Given the description of an element on the screen output the (x, y) to click on. 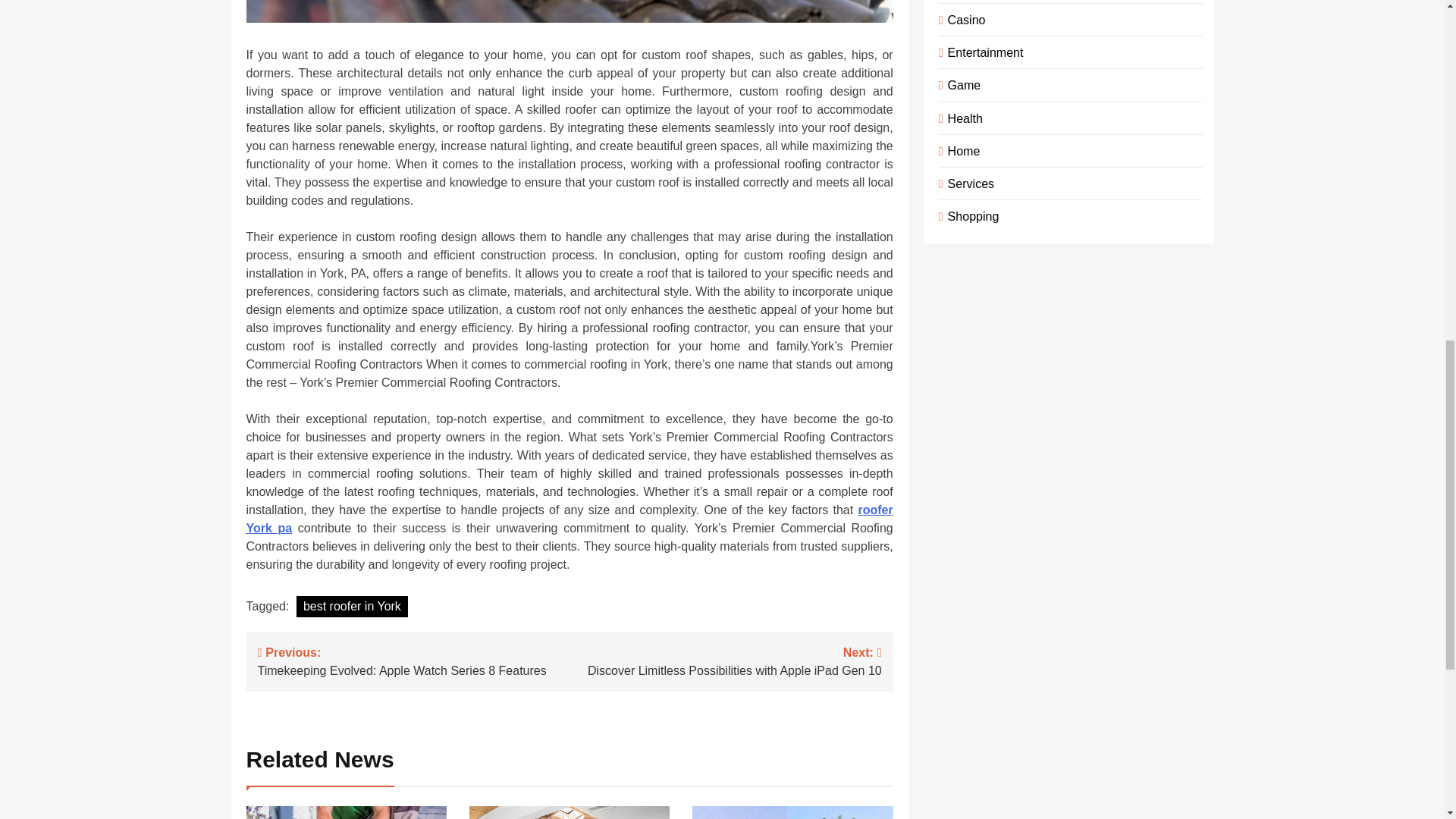
roofer York pa (569, 518)
best roofer in York (352, 606)
